Given the description of an element on the screen output the (x, y) to click on. 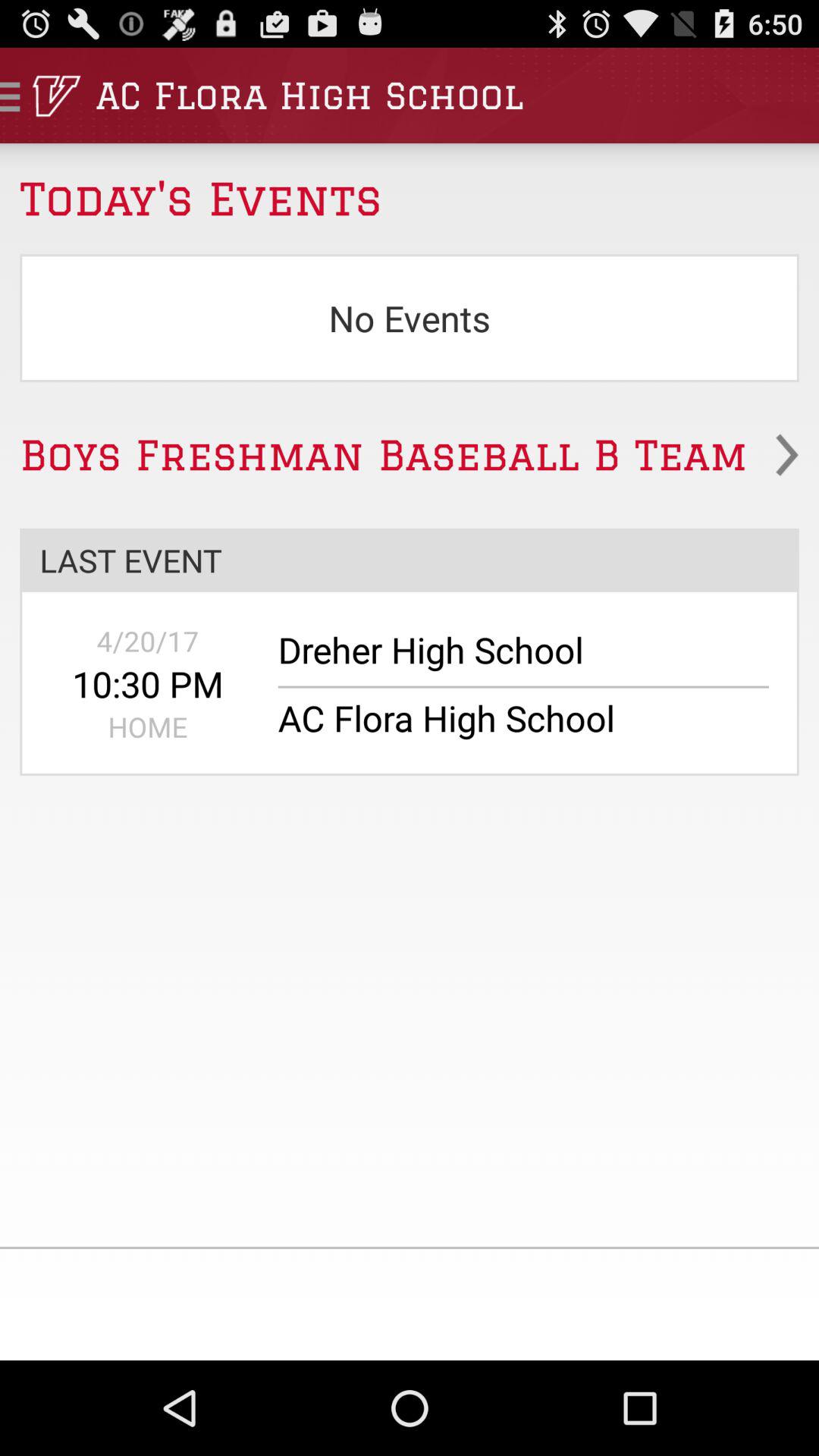
select 4/20/17 icon (147, 640)
